Given the description of an element on the screen output the (x, y) to click on. 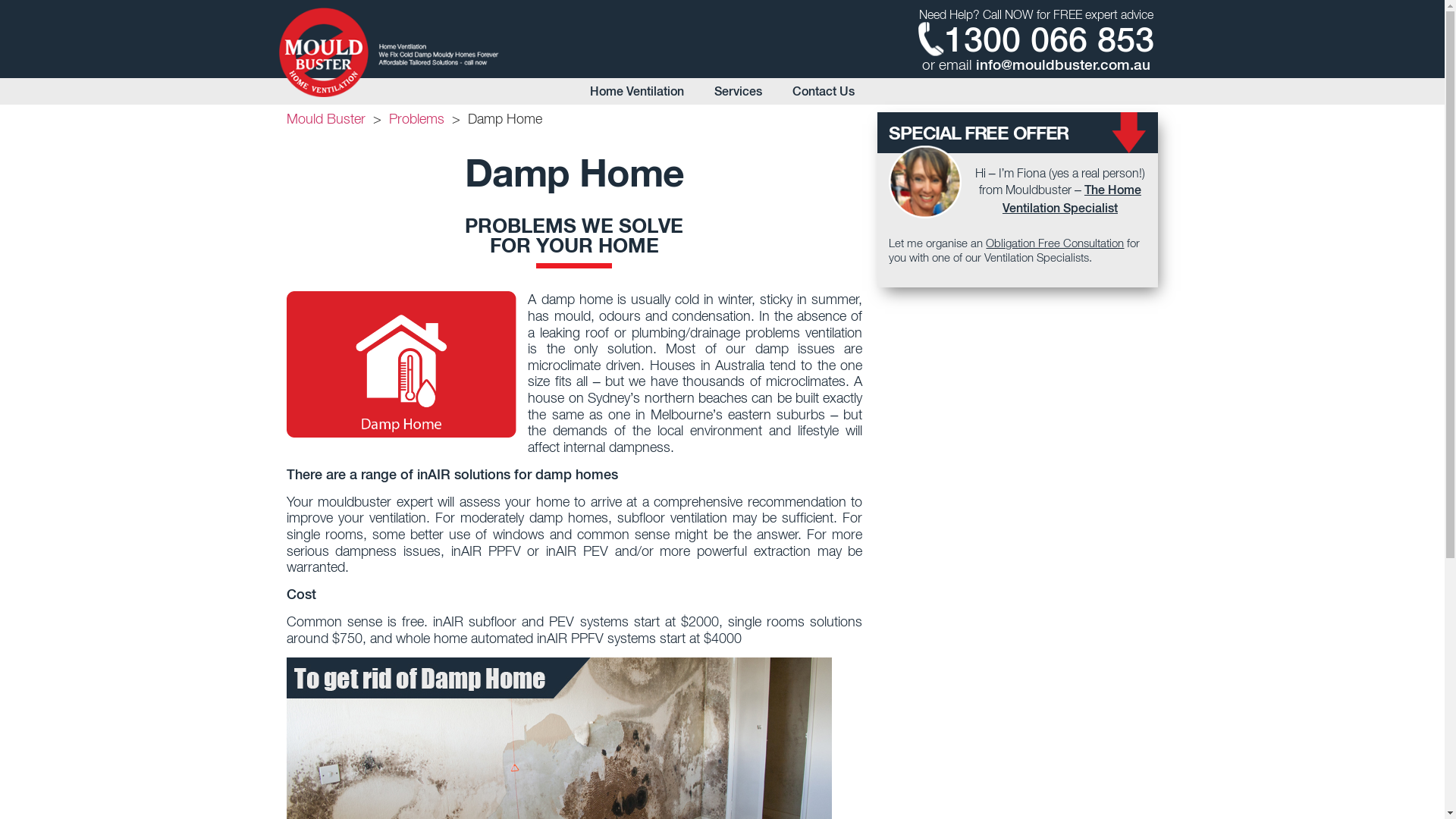
Services Element type: text (738, 91)
Problems Element type: text (415, 118)
Home Ventilation Element type: text (636, 91)
Contact Us Element type: text (823, 91)
Mould Buster Element type: text (325, 118)
